Given the description of an element on the screen output the (x, y) to click on. 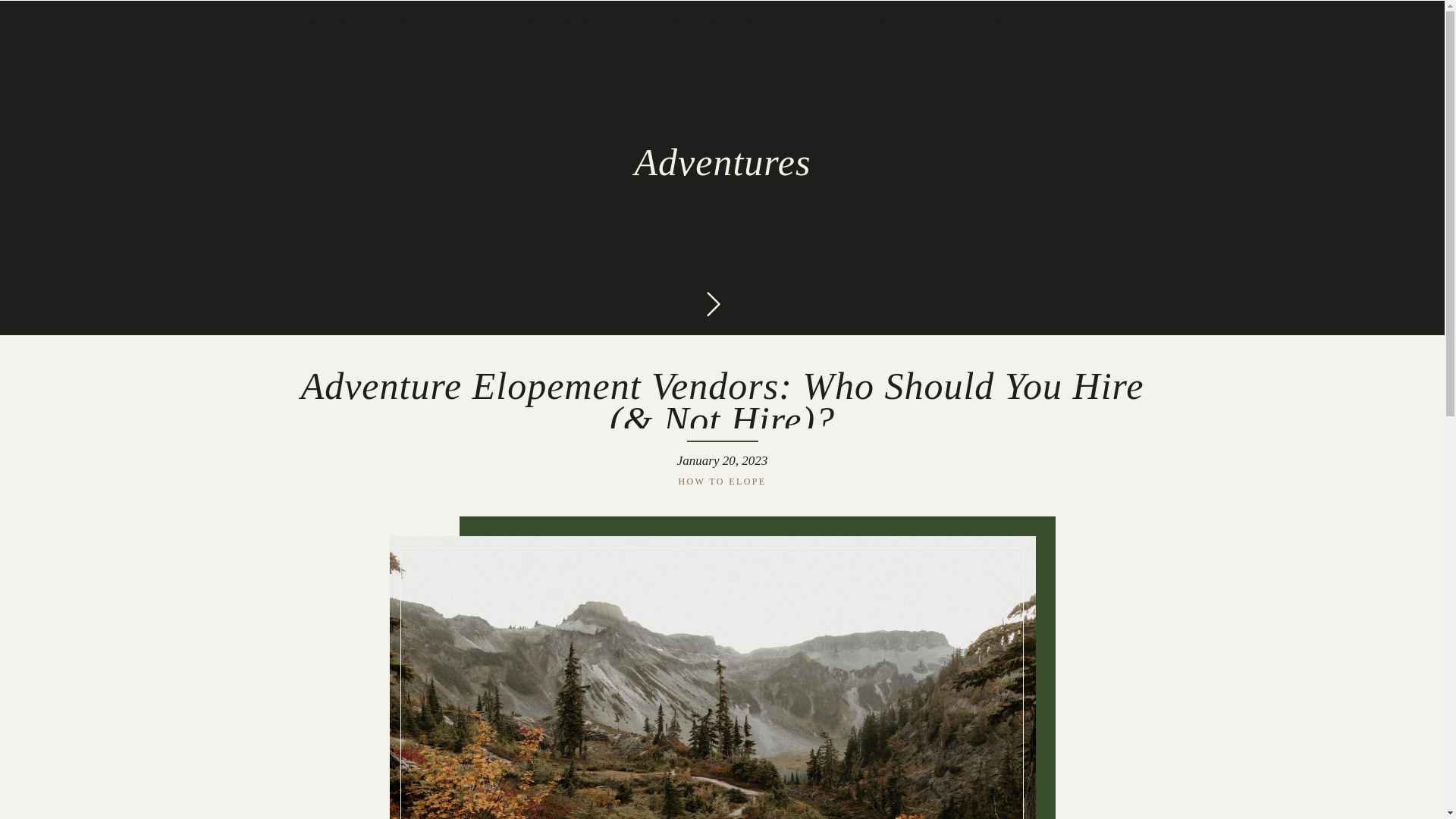
ABOUT (422, 23)
HOME (328, 23)
HOW TO ELOPE (555, 22)
WHERE TO ELOPE (729, 22)
CONTENT DAY (1116, 29)
HOW TO ELOPE (721, 480)
CONTACT (1006, 22)
SERVICES (887, 22)
